Given the description of an element on the screen output the (x, y) to click on. 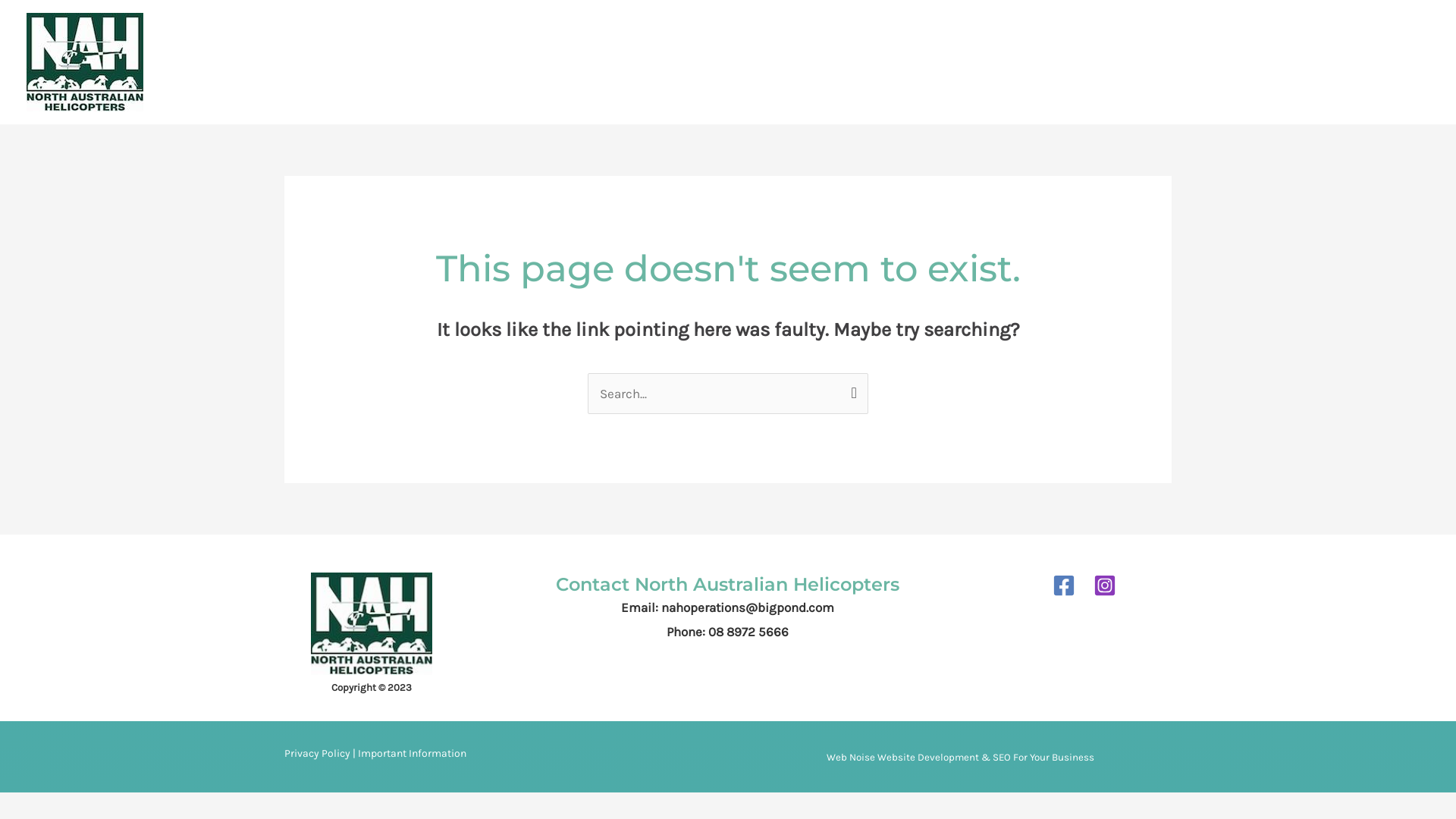
Frequently Asked Questions Element type: text (1164, 61)
nahoperations@bigpond.com Element type: text (747, 607)
Contact North Australian Helicopters Element type: text (727, 584)
Scenic Tours Element type: text (884, 61)
Search Element type: text (851, 388)
08 8972 5666 Element type: text (1391, 61)
Phone: 08 8972 5666 Element type: text (727, 631)
Contact Element type: text (1286, 61)
Web Noise Website Development & SEO For Your Business Element type: text (960, 756)
Home Element type: text (809, 61)
Privacy Policy | Important Information Element type: text (375, 753)
Our Services & Fleet Element type: text (1003, 61)
